Given the description of an element on the screen output the (x, y) to click on. 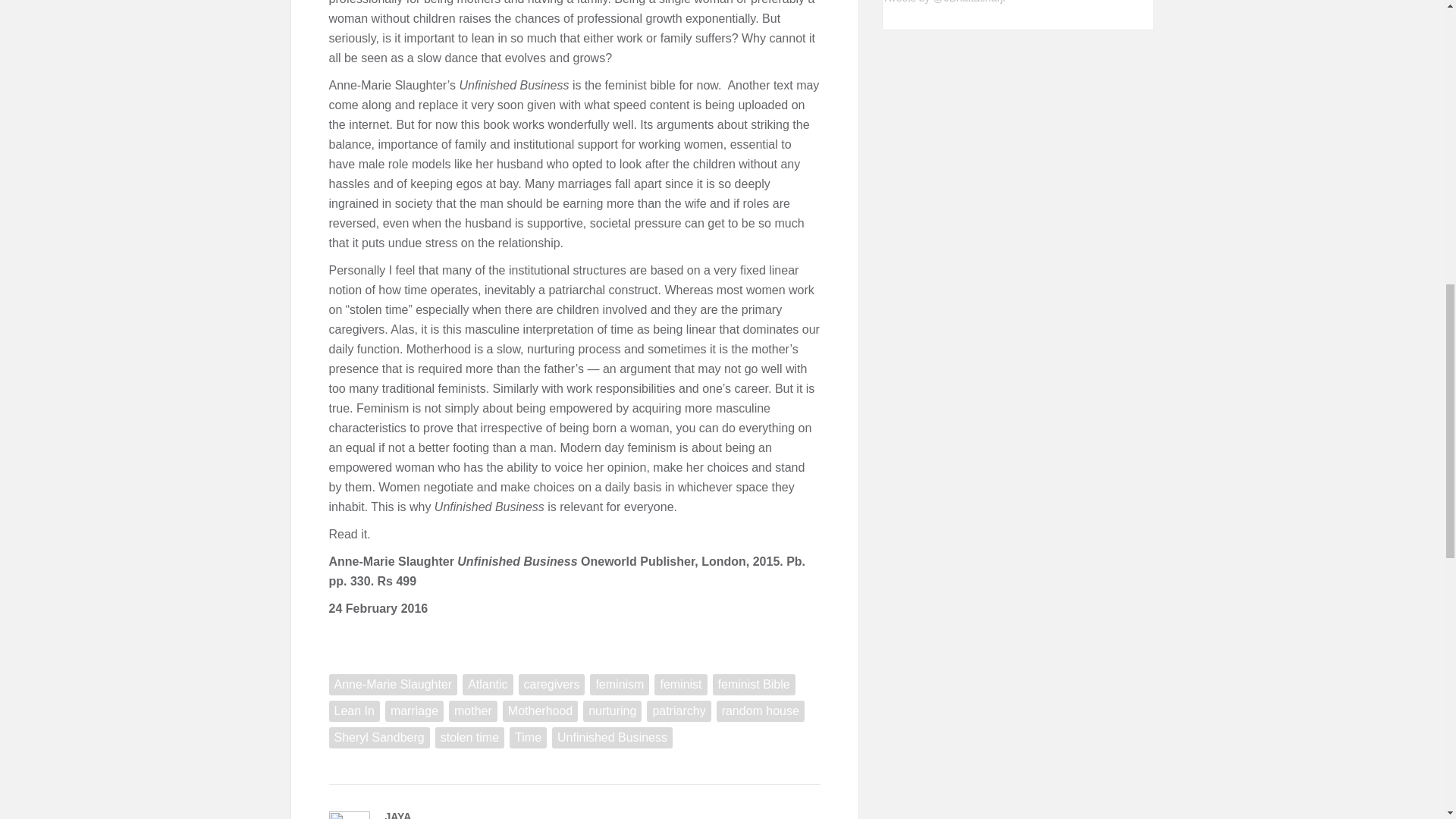
caregivers (551, 684)
Sheryl Sandberg (379, 737)
patriarchy (678, 711)
feminist Bible (753, 684)
nurturing (612, 711)
Anne-Marie Slaughter (393, 684)
mother (472, 711)
Time (528, 737)
Atlantic (487, 684)
Motherhood (540, 711)
